Given the description of an element on the screen output the (x, y) to click on. 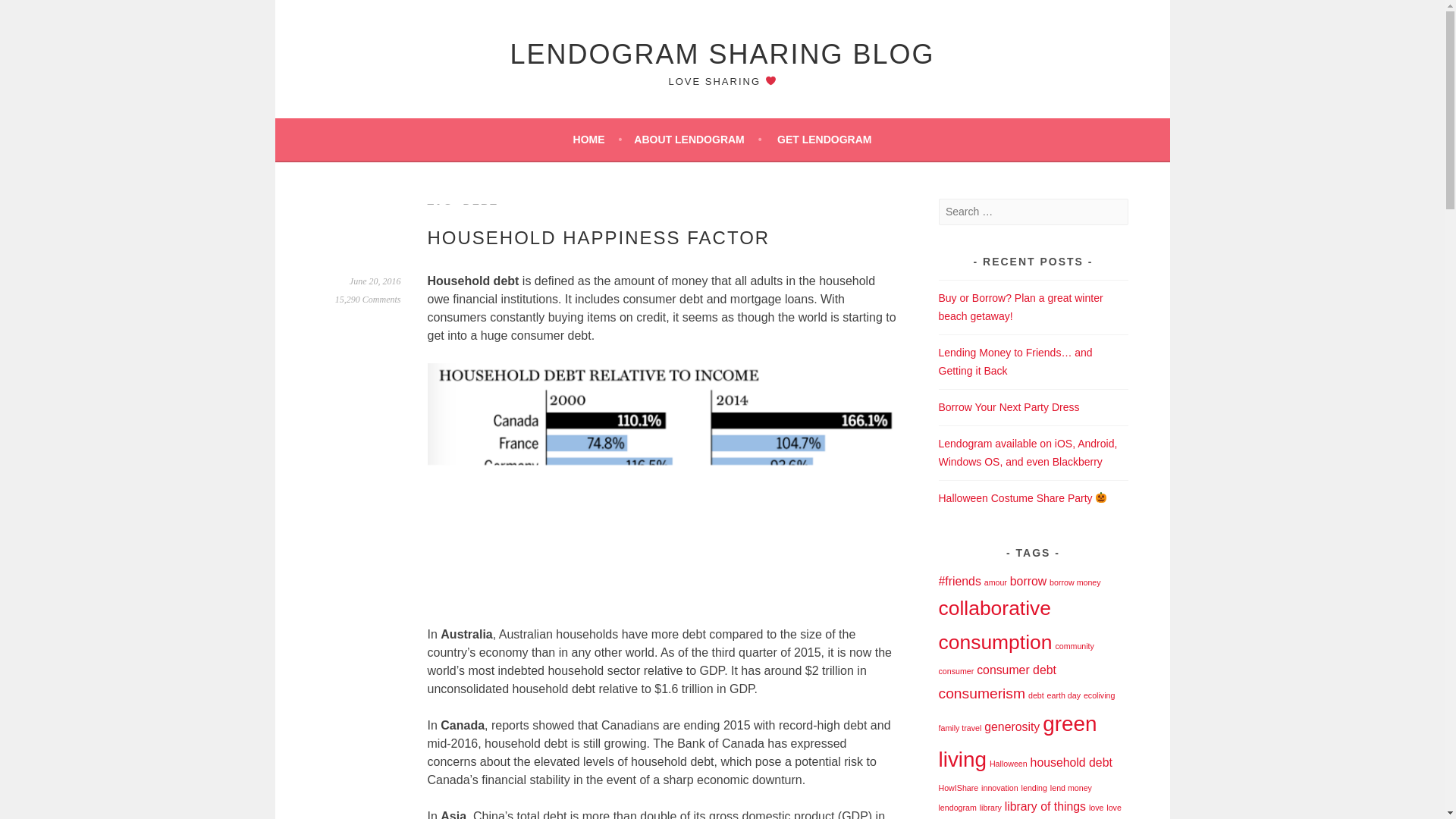
ABOUT LENDOGRAM (697, 139)
library of things (1045, 806)
Lendogram Sharing Blog (721, 53)
ecoliving (1099, 695)
borrow money (1074, 582)
borrow (1028, 581)
GET LENDOGRAM (823, 139)
LENDOGRAM SHARING BLOG (721, 53)
Halloween Costume Share Party (1023, 498)
